Given the description of an element on the screen output the (x, y) to click on. 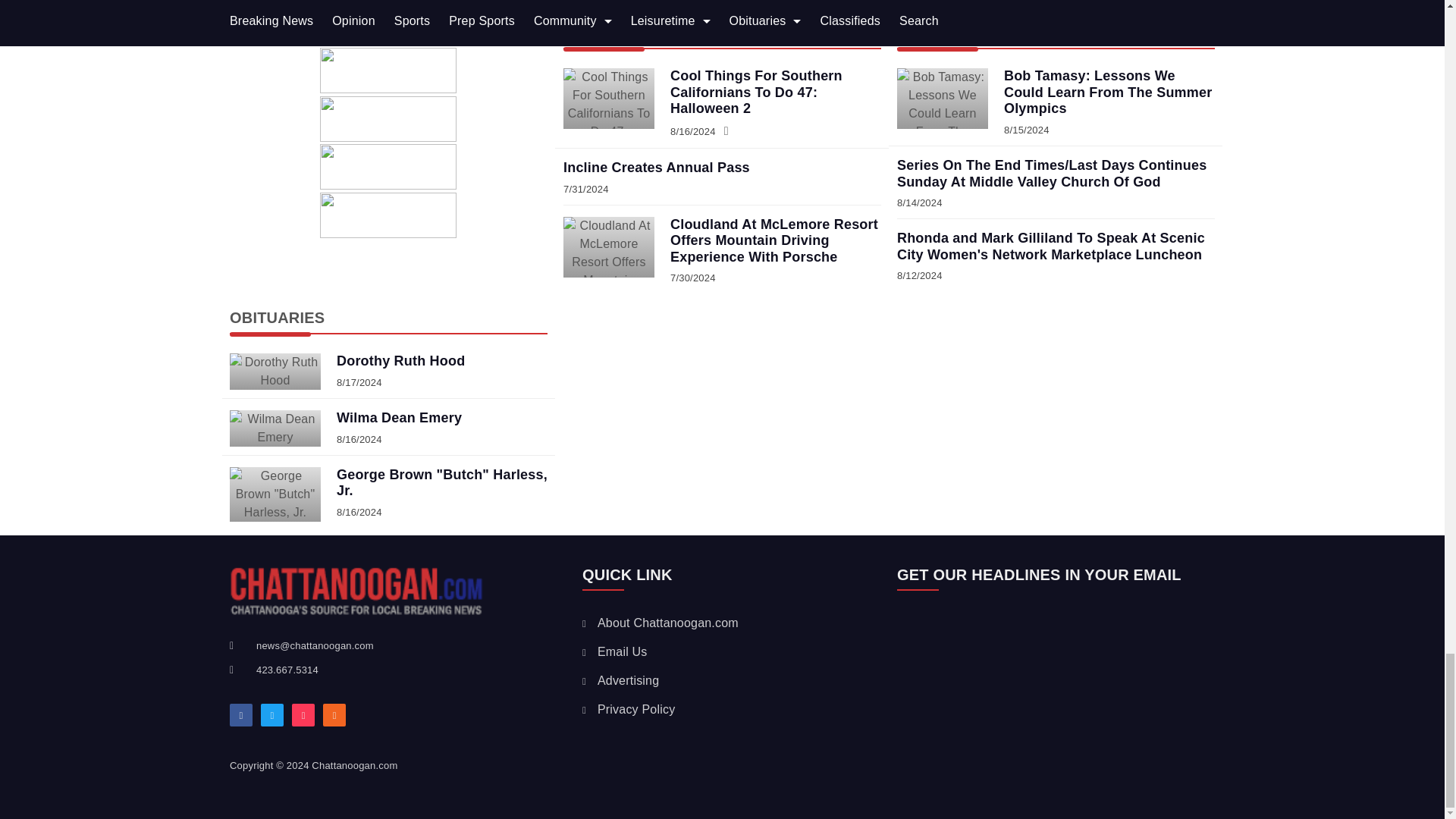
Connect to our RSS feed! (334, 714)
Visit us on Twitter! (271, 714)
Visit us on Instagram! (303, 714)
Visit us on Facebook! (240, 714)
